Given the description of an element on the screen output the (x, y) to click on. 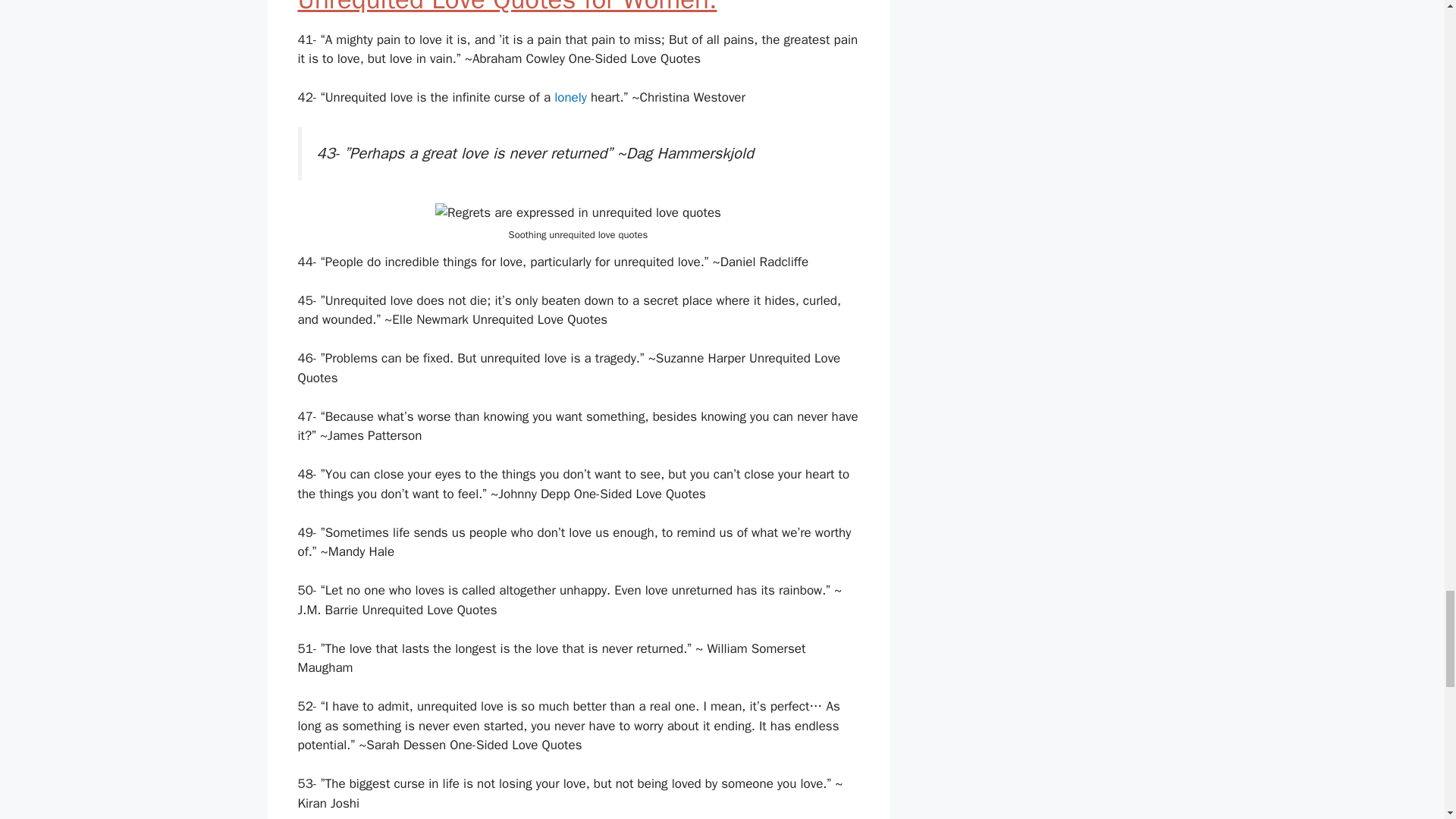
lonely (570, 97)
